Given the description of an element on the screen output the (x, y) to click on. 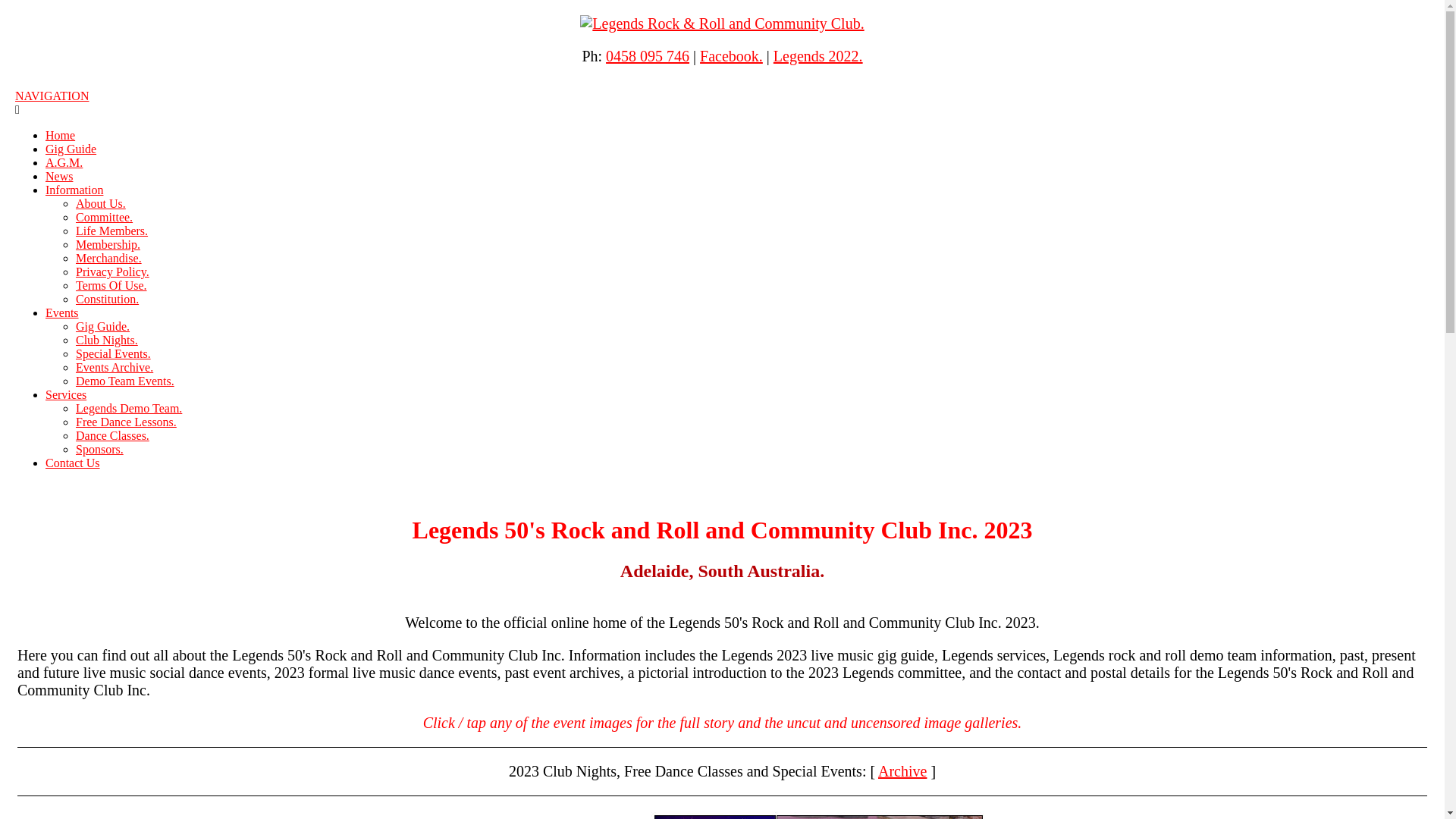
Membership. Element type: text (107, 244)
Facebook. Element type: text (730, 55)
Events Archive. Element type: text (114, 366)
Information Element type: text (74, 189)
Legends 2022. Element type: text (817, 55)
Merchandise. Element type: text (108, 257)
Contact Us Element type: text (72, 462)
A.G.M. Element type: text (63, 162)
Legends Rock & Roll and Community Club. Element type: hover (721, 23)
Services Element type: text (65, 394)
Gig Guide Element type: text (70, 148)
Archive Element type: text (902, 770)
Dance Classes. Element type: text (112, 435)
Home Element type: text (60, 134)
Demo Team Events. Element type: text (124, 380)
Privacy Policy. Element type: text (112, 271)
Constitution. Element type: text (106, 298)
About Us. Element type: text (100, 203)
Legends Rock & Roll and Community Club. Element type: hover (721, 23)
Terms Of Use. Element type: text (111, 285)
Committee. Element type: text (103, 216)
Gig Guide. Element type: text (102, 326)
Life Members. Element type: text (111, 230)
Events Element type: text (61, 312)
Special Events. Element type: text (112, 353)
Legends Demo Team. Element type: text (128, 407)
Sponsors. Element type: text (99, 448)
NAVIGATION Element type: text (51, 95)
News Element type: text (58, 175)
Free Dance Lessons. Element type: text (125, 421)
0458 095 746 Element type: text (647, 55)
Club Nights. Element type: text (106, 339)
